Given the description of an element on the screen output the (x, y) to click on. 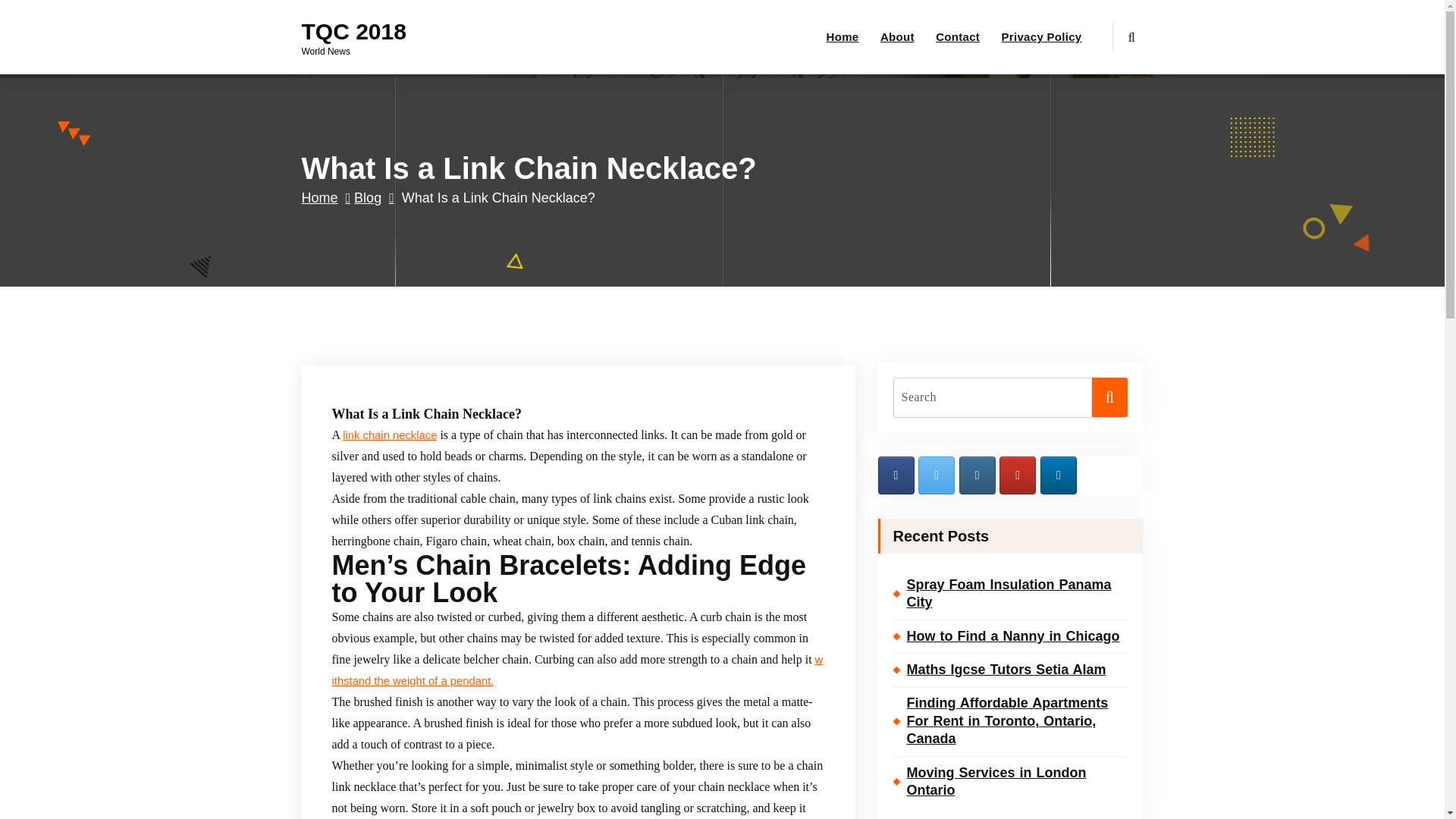
TQC 2018 (353, 31)
How to Find a Nanny in Chicago (1010, 635)
Contact (958, 37)
TQC 2018 on X Twitter (936, 475)
Privacy Policy (1041, 37)
Privacy Policy (1041, 37)
About (897, 37)
Moving Services in London Ontario (1010, 781)
Maths Igcse Tutors Setia Alam (1010, 669)
withstand the weight of a pendant. (577, 670)
About (897, 37)
TQC 2018 on Linkedin (1059, 475)
Home (325, 197)
TQC 2018 on Youtube (1016, 475)
